Given the description of an element on the screen output the (x, y) to click on. 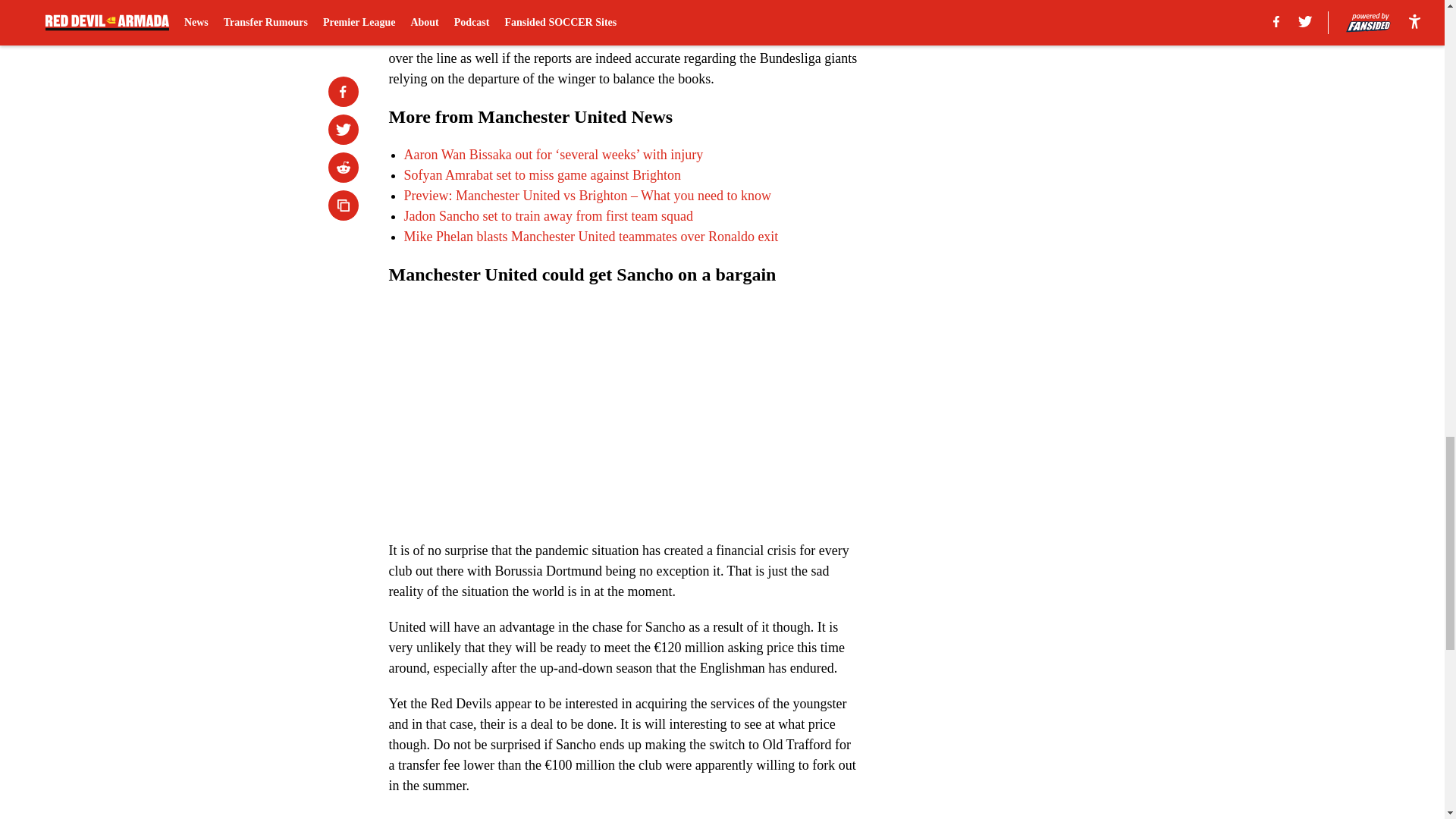
Jadon Sancho set to train away from first team squad (548, 215)
Sofyan Amrabat set to miss game against Brighton (541, 174)
